Given the description of an element on the screen output the (x, y) to click on. 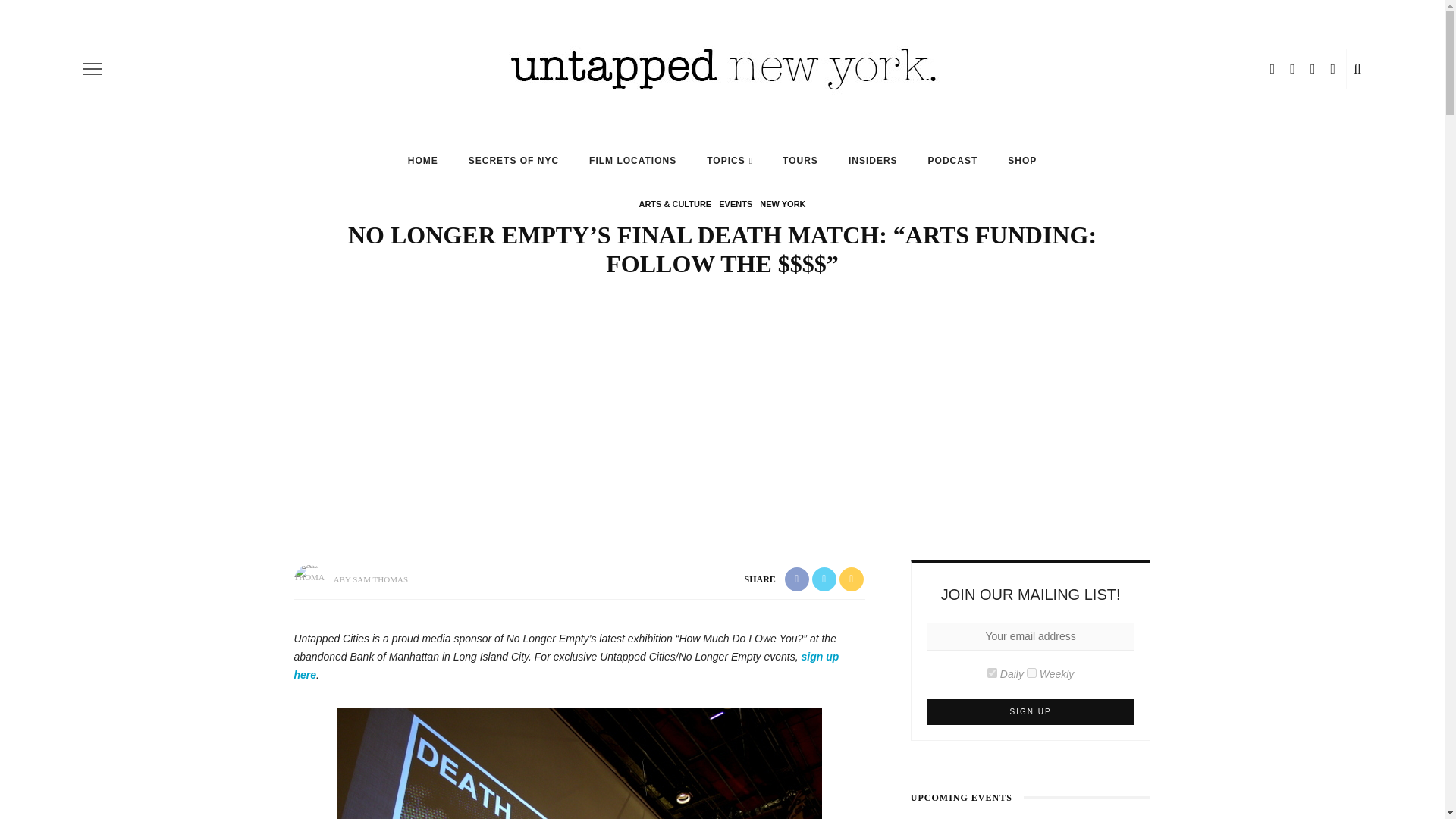
off canvas button (91, 68)
7cff6a70fd (1031, 673)
Sign up (1030, 711)
e99a09560c (992, 673)
